Given the description of an element on the screen output the (x, y) to click on. 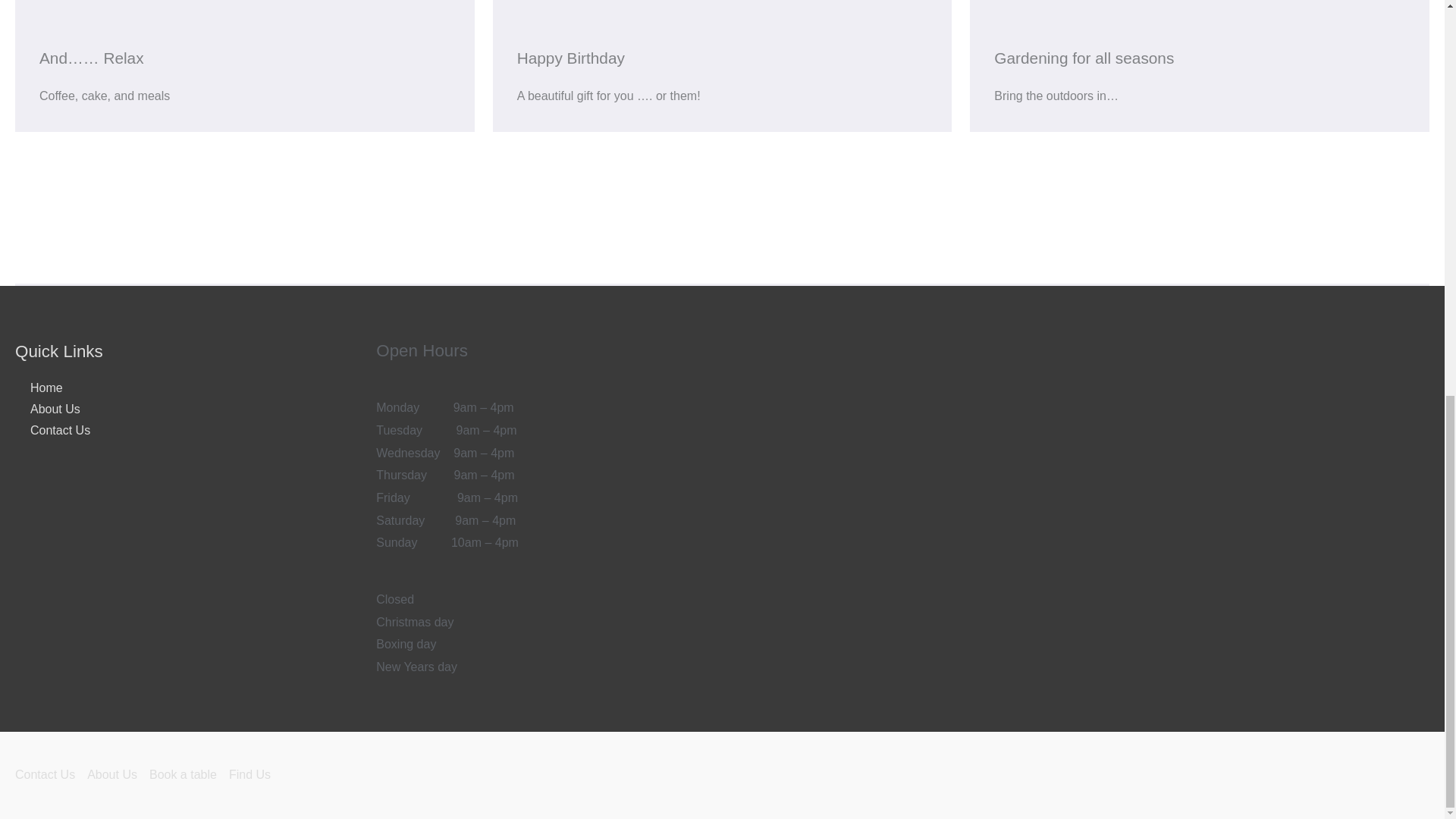
About Us (47, 409)
Contact Us (50, 774)
Book a table (188, 774)
Home (38, 387)
About Us (118, 774)
Find Us (255, 774)
Contact Us (52, 430)
